Given the description of an element on the screen output the (x, y) to click on. 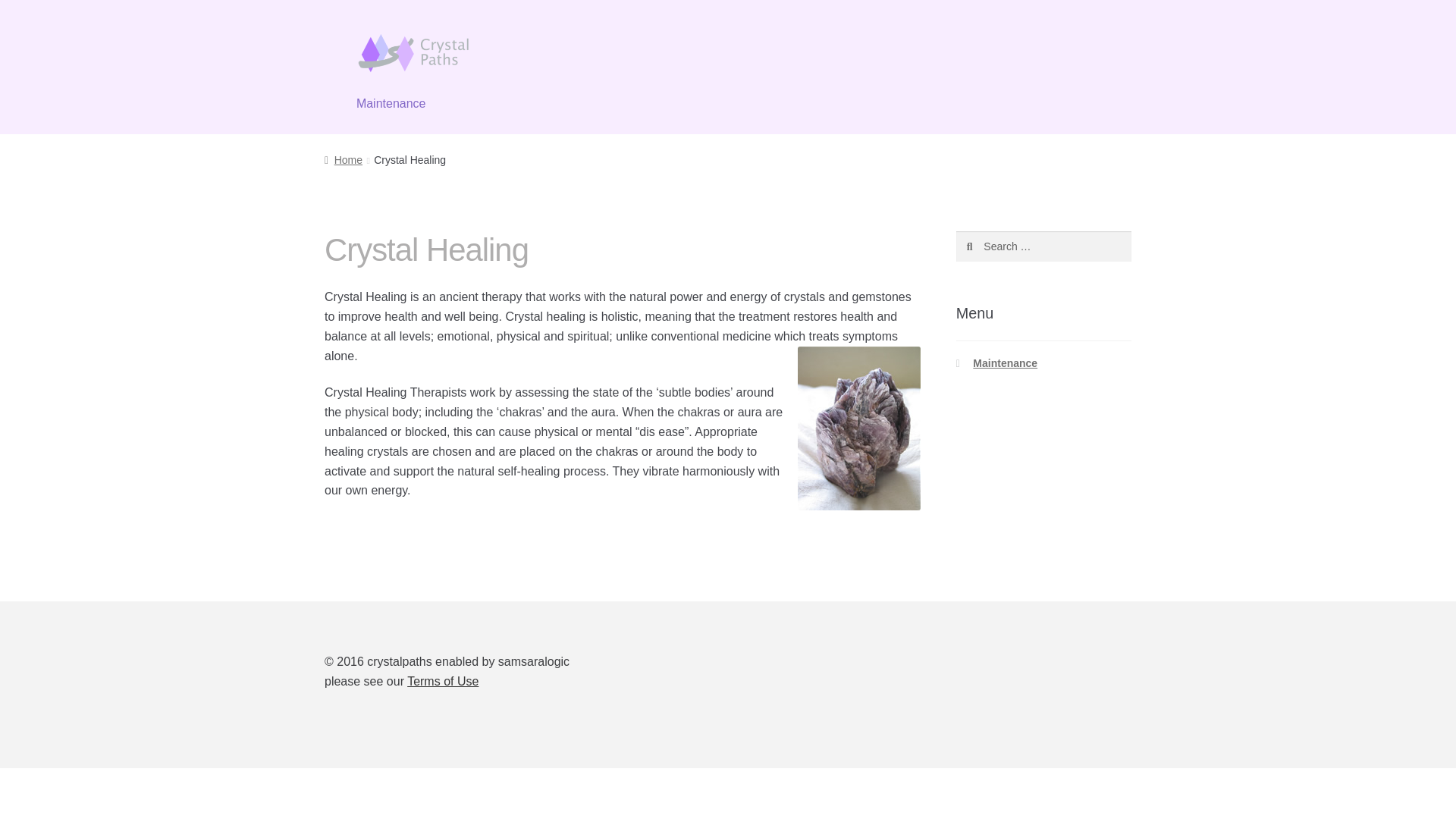
Maintenance (1004, 363)
Terms of Use (443, 680)
Home (343, 159)
Maintenance (390, 104)
